Given the description of an element on the screen output the (x, y) to click on. 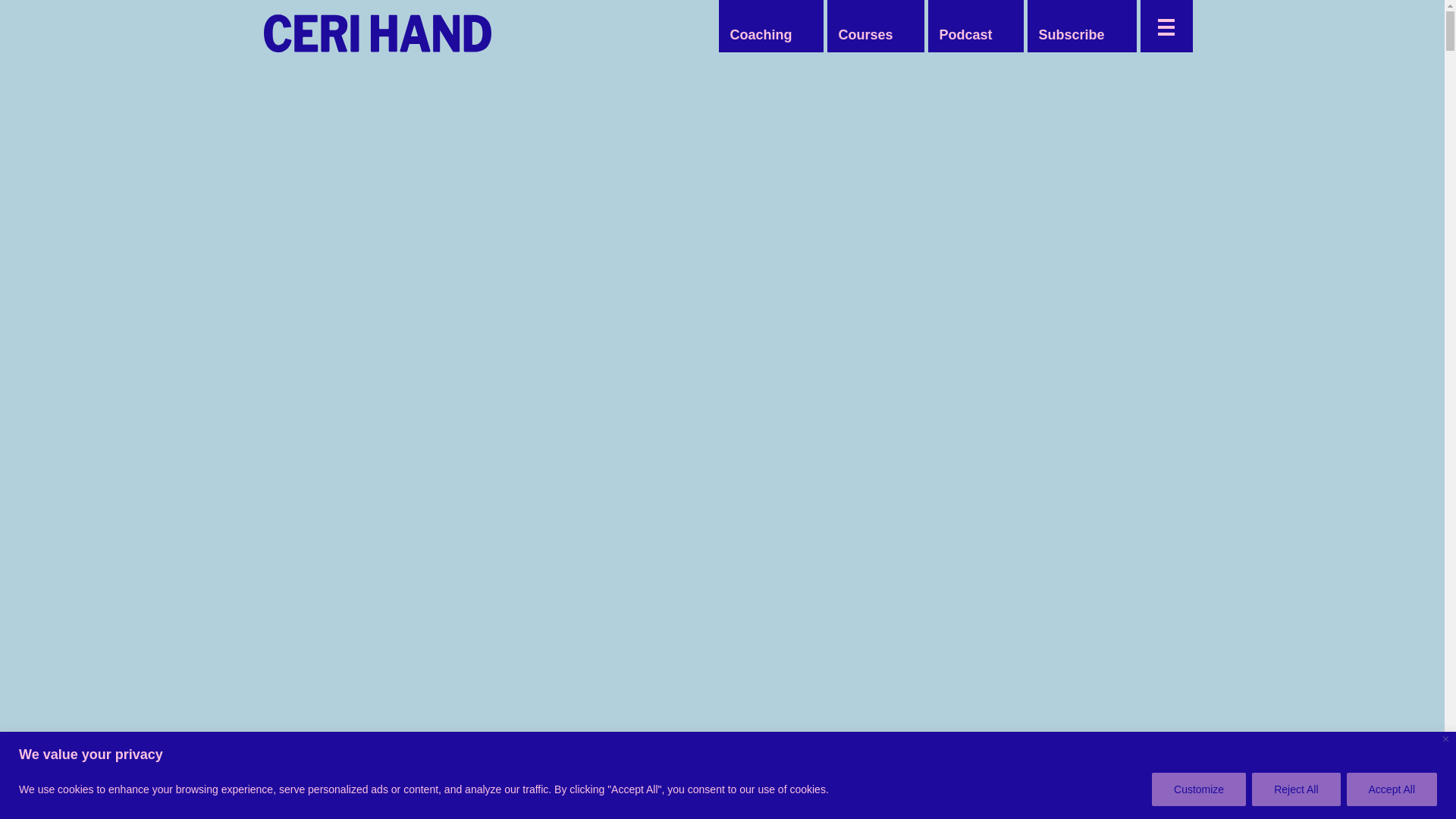
Accept All (1391, 788)
Courses (864, 34)
Podcast (964, 34)
Subscribe (1070, 34)
Customize (1198, 788)
Coaching (760, 34)
Reject All (1295, 788)
